Given the description of an element on the screen output the (x, y) to click on. 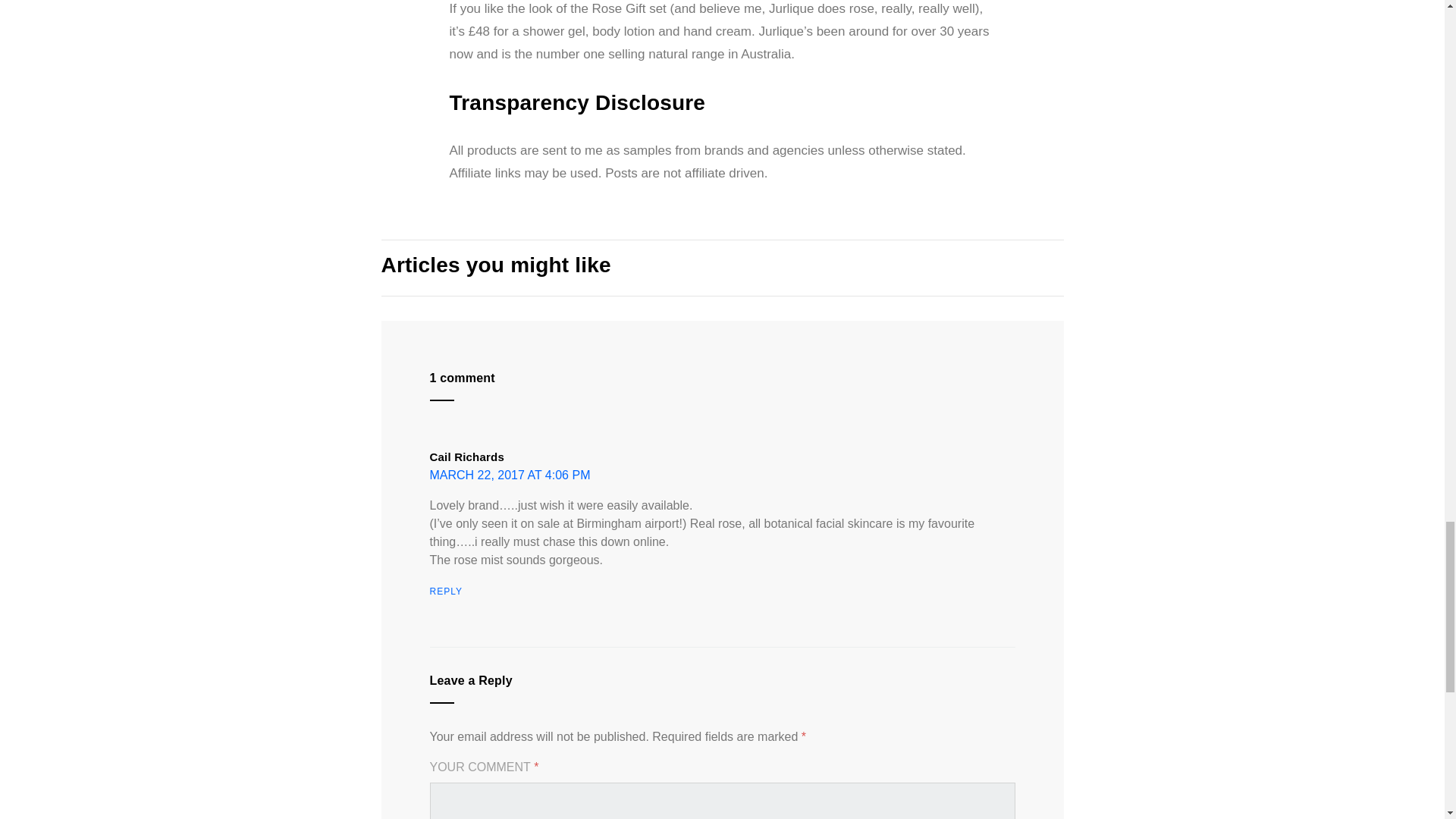
MARCH 22, 2017 AT 4:06 PM (509, 474)
REPLY (445, 591)
